Given the description of an element on the screen output the (x, y) to click on. 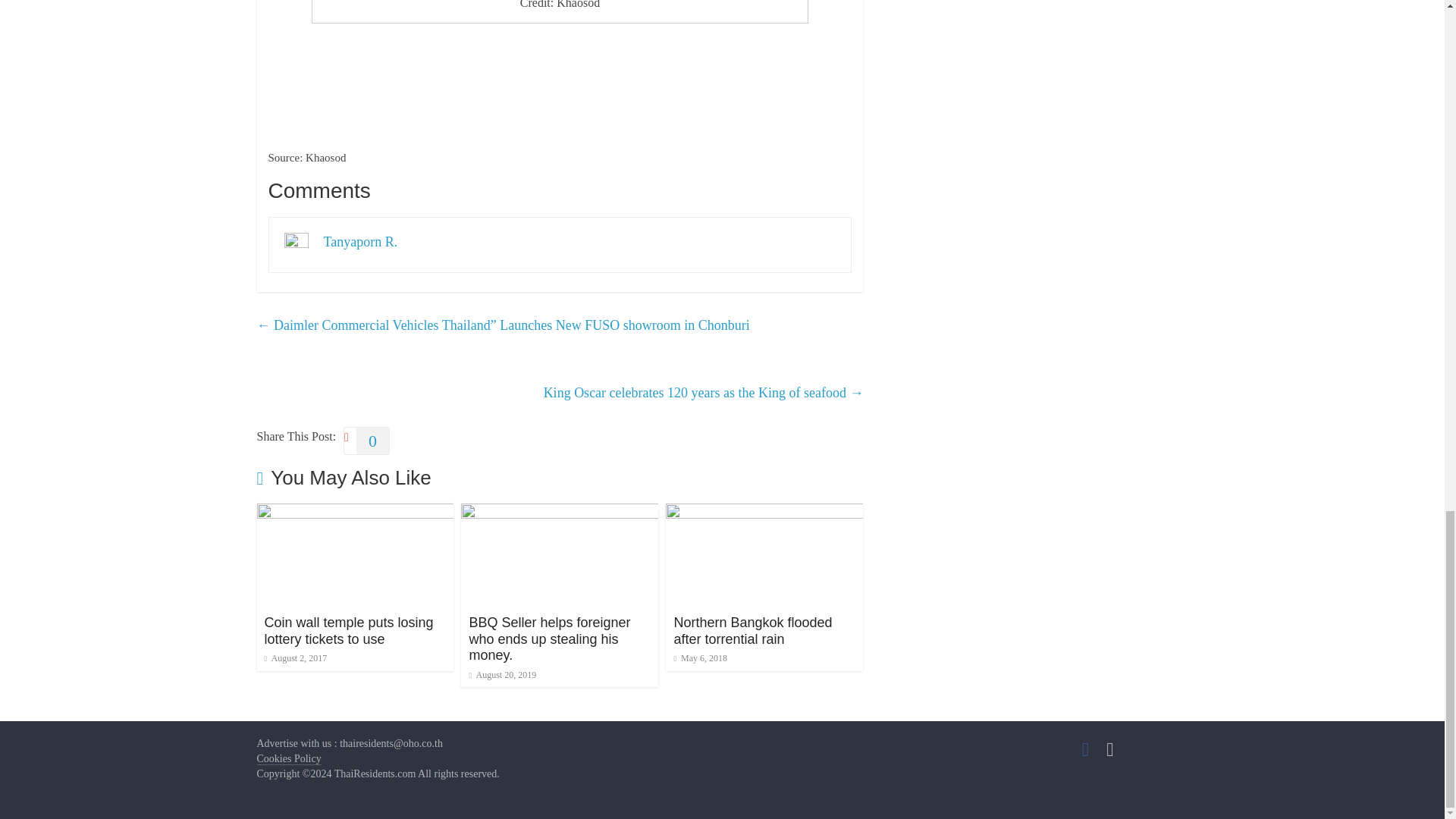
BBQ Seller helps foreigner who ends up stealing his money. (559, 512)
BBQ Seller helps foreigner who ends up stealing his money. (549, 638)
6:32 am (501, 674)
Coin wall temple puts losing lottery tickets to use (354, 512)
7:10 am (294, 657)
Coin wall temple puts losing lottery tickets to use (347, 631)
